Given the description of an element on the screen output the (x, y) to click on. 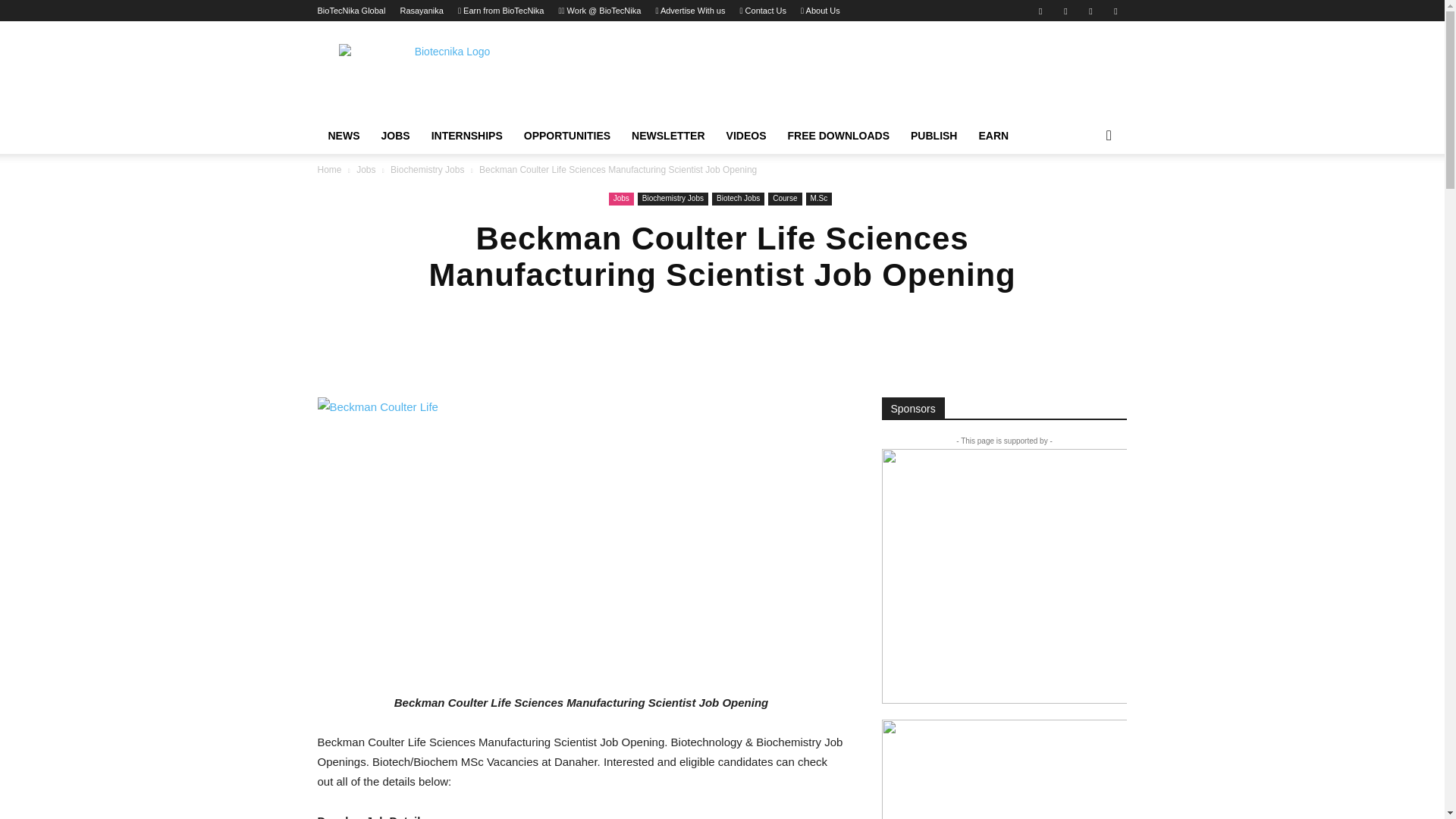
Twitter (1090, 10)
Youtube (1114, 10)
Rasayanika (420, 10)
BioTecNika Global (351, 10)
Facebook (1040, 10)
Linkedin (1065, 10)
